Given the description of an element on the screen output the (x, y) to click on. 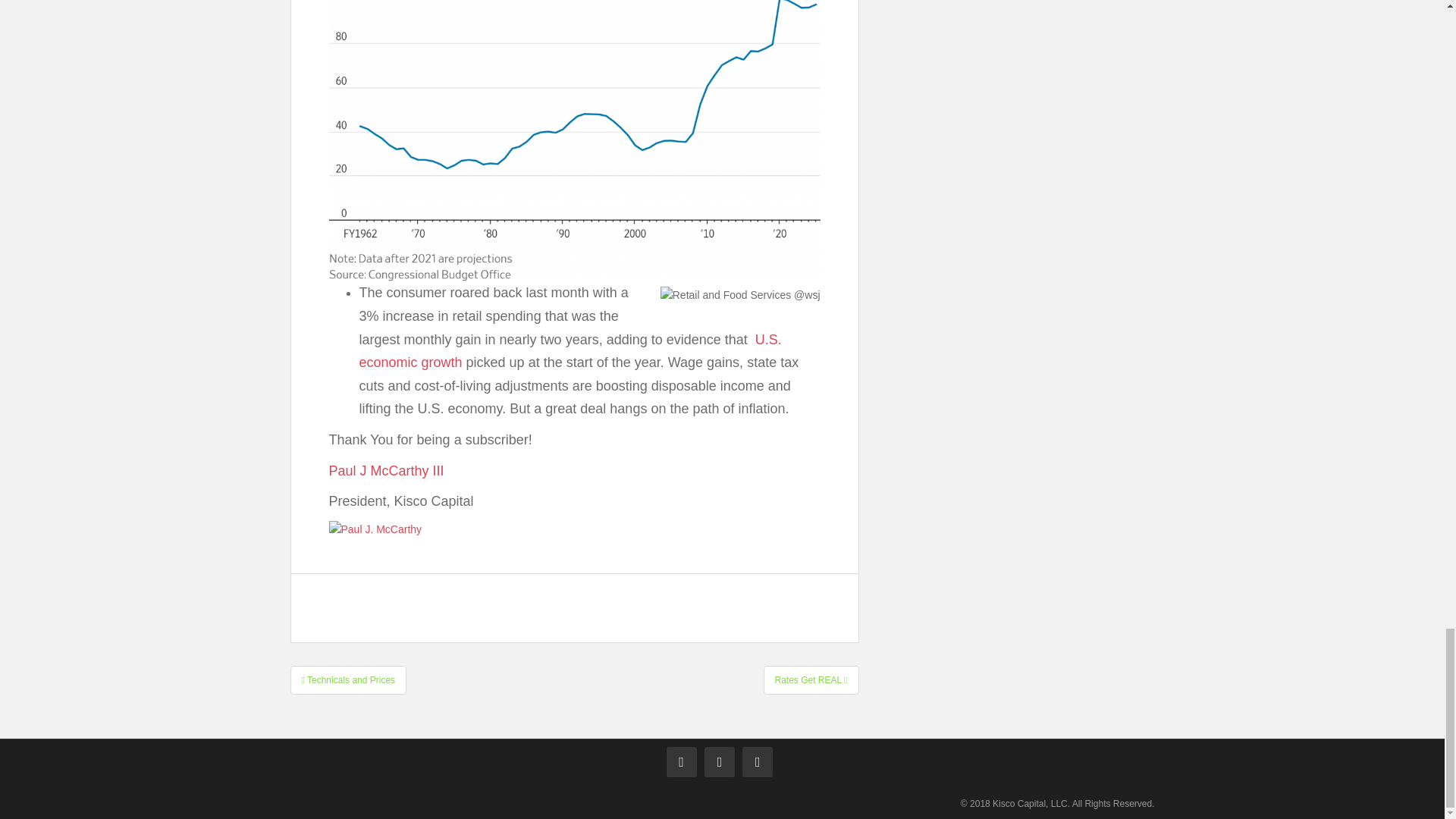
Technicals and Prices (347, 679)
Paul J McCarthy III (386, 470)
U.S. economic growth (570, 351)
Paul J McCarthy III (386, 470)
Rates Get REAL (810, 679)
